Given the description of an element on the screen output the (x, y) to click on. 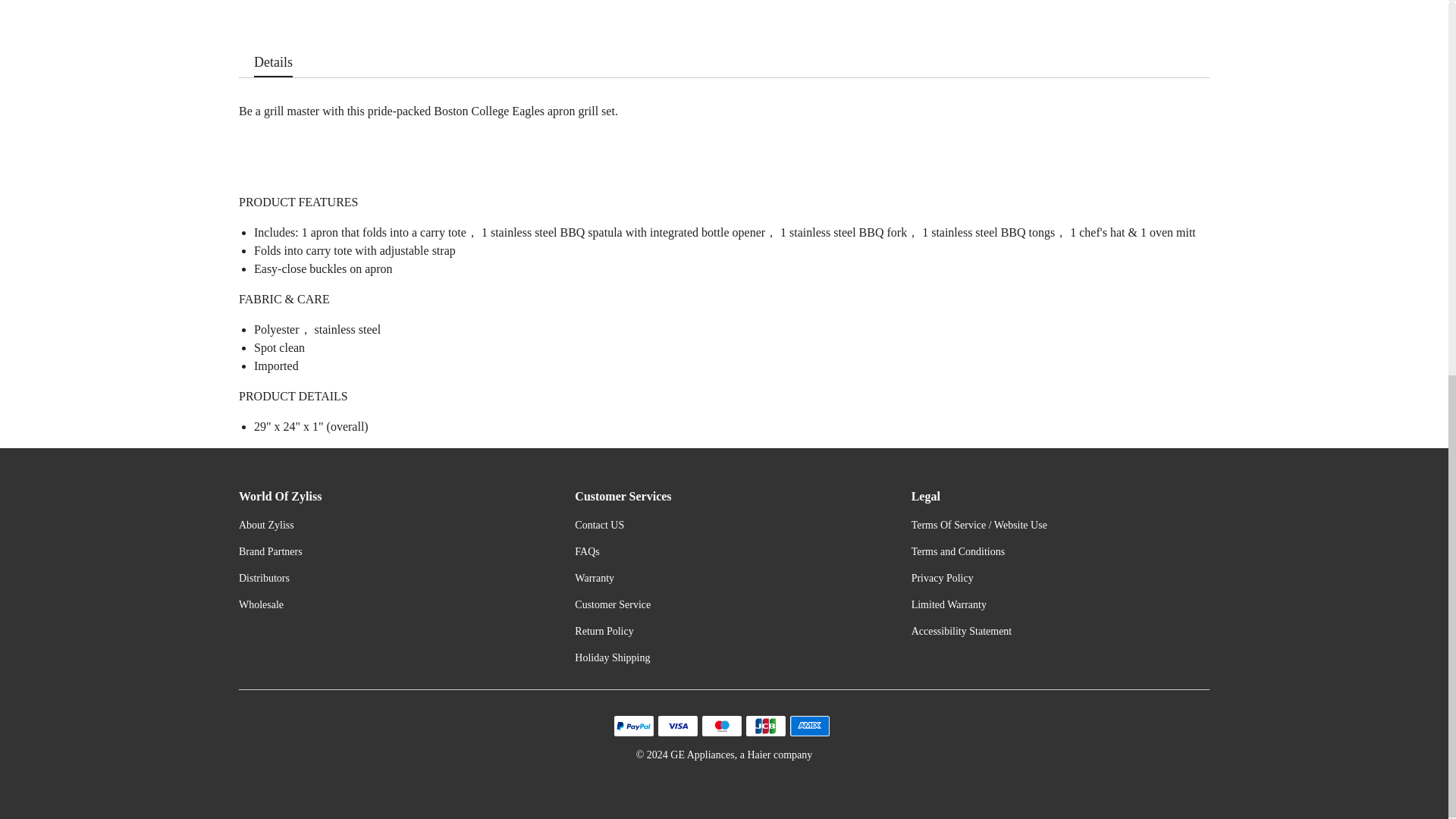
Holiday Shipping (612, 657)
Contact US (599, 524)
Distributors (263, 577)
FAQs (586, 551)
Wholesale (260, 604)
Brand Partners (270, 551)
Warranty (594, 577)
Customer Service (612, 604)
Return Policy (604, 631)
About Zyliss (266, 524)
